Given the description of an element on the screen output the (x, y) to click on. 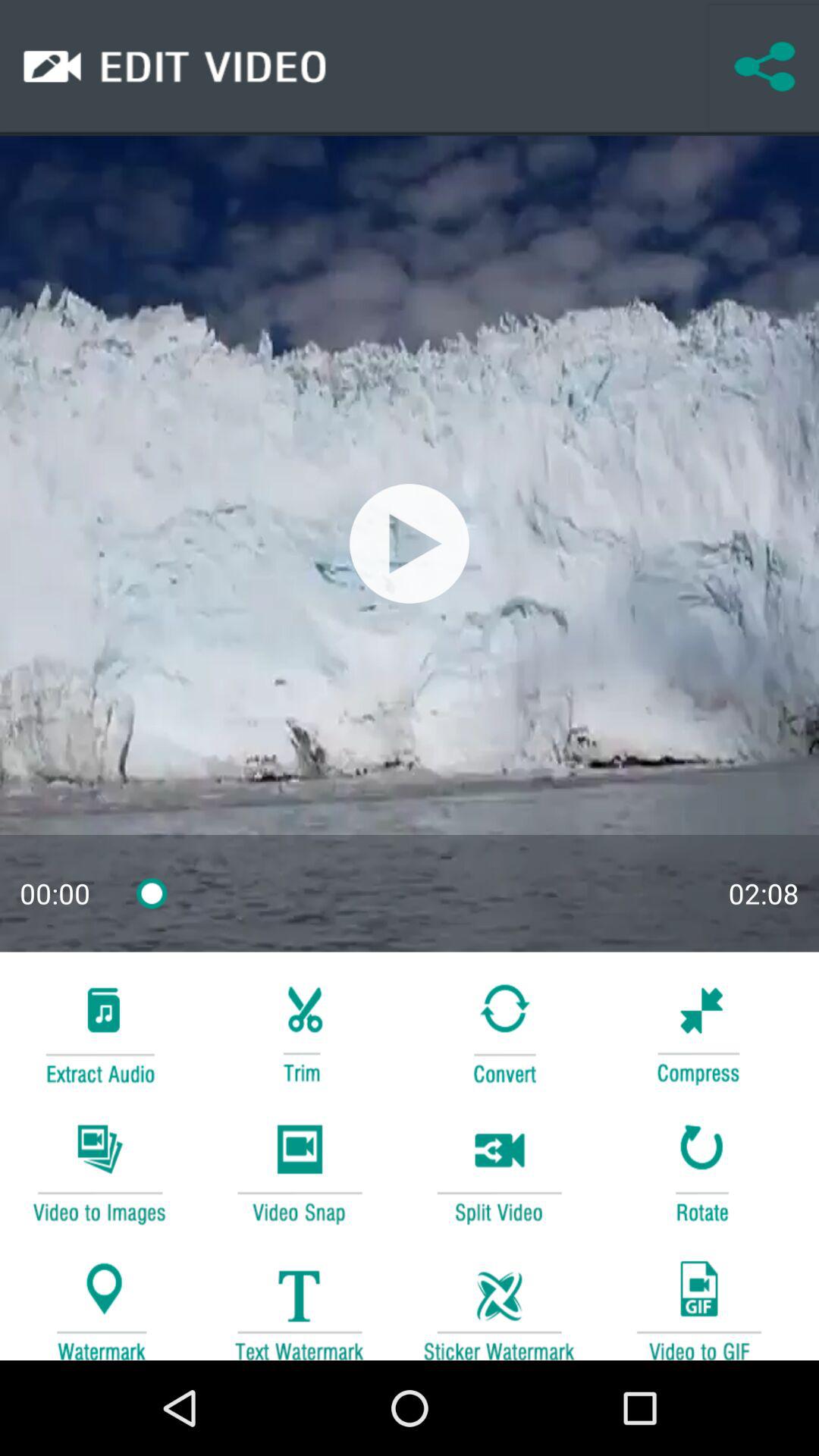
convert vidoes (99, 1171)
